Given the description of an element on the screen output the (x, y) to click on. 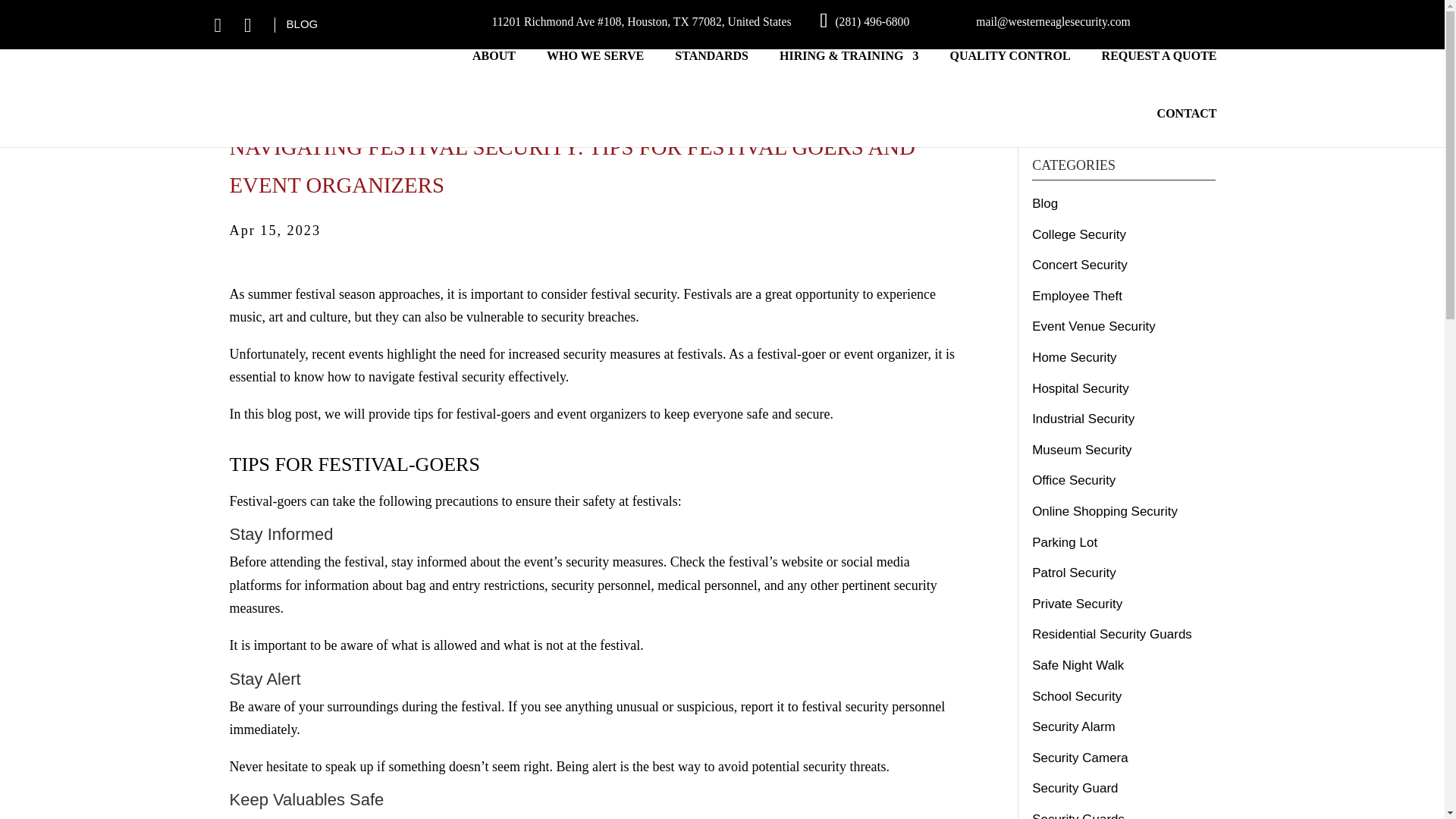
Security Guard (1075, 788)
Employee Theft (1077, 296)
Office Security (1073, 480)
Patrol Security (1074, 572)
School Security (1076, 695)
Security Alarm (1073, 726)
Online Shopping Security (1104, 511)
Safe Night Walk (1078, 665)
Hospital Security (1080, 388)
Residential Security Guards (1112, 634)
Home Security (1074, 357)
STANDARDS (711, 68)
ABOUT (493, 68)
Blog (1045, 203)
Concert Security (1079, 264)
